Given the description of an element on the screen output the (x, y) to click on. 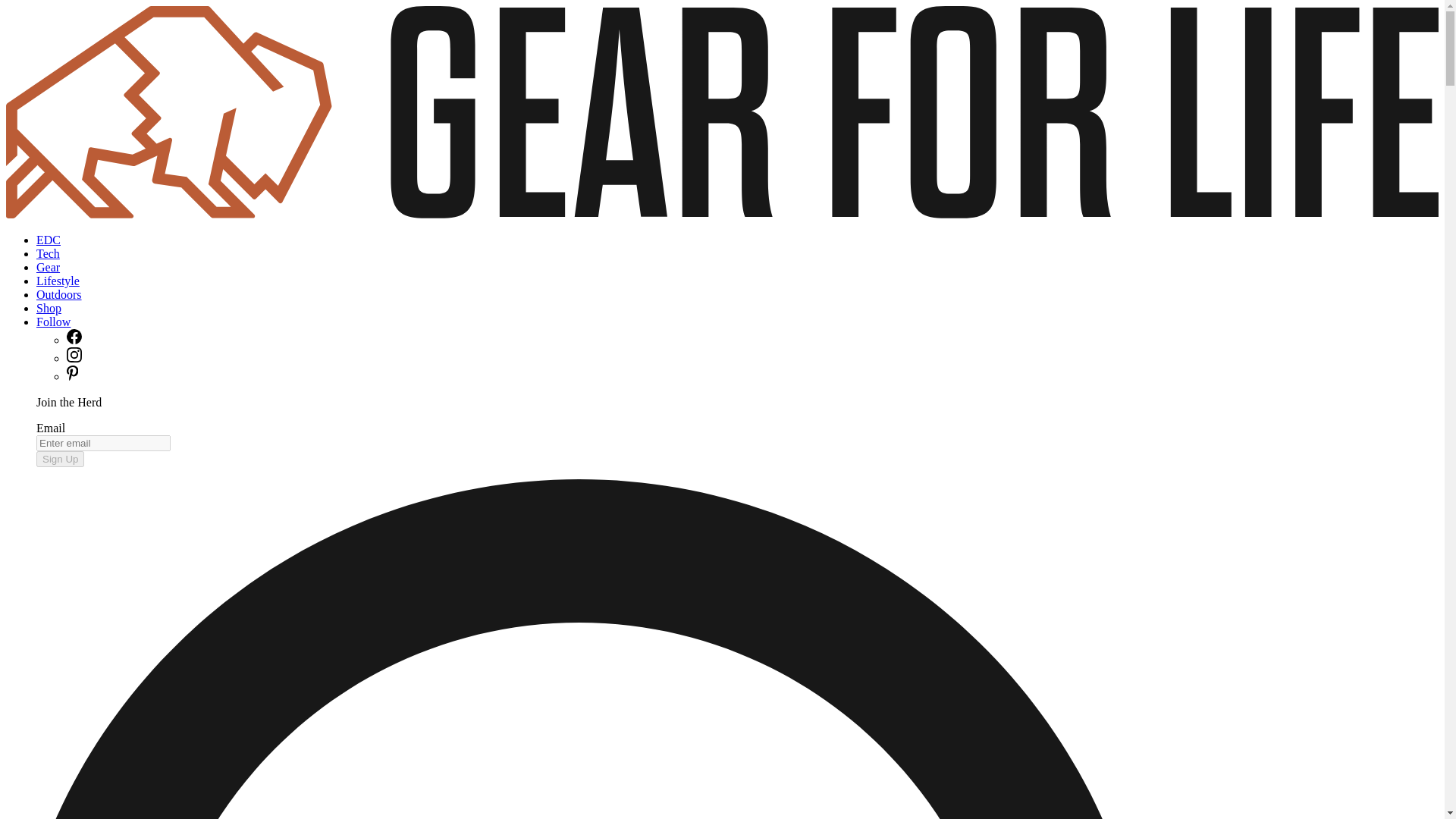
Tech (47, 253)
Sign Up (60, 458)
Shop (48, 308)
Outdoors (58, 294)
Gear (47, 267)
Follow (52, 321)
Lifestyle (58, 280)
EDC (48, 239)
